Given the description of an element on the screen output the (x, y) to click on. 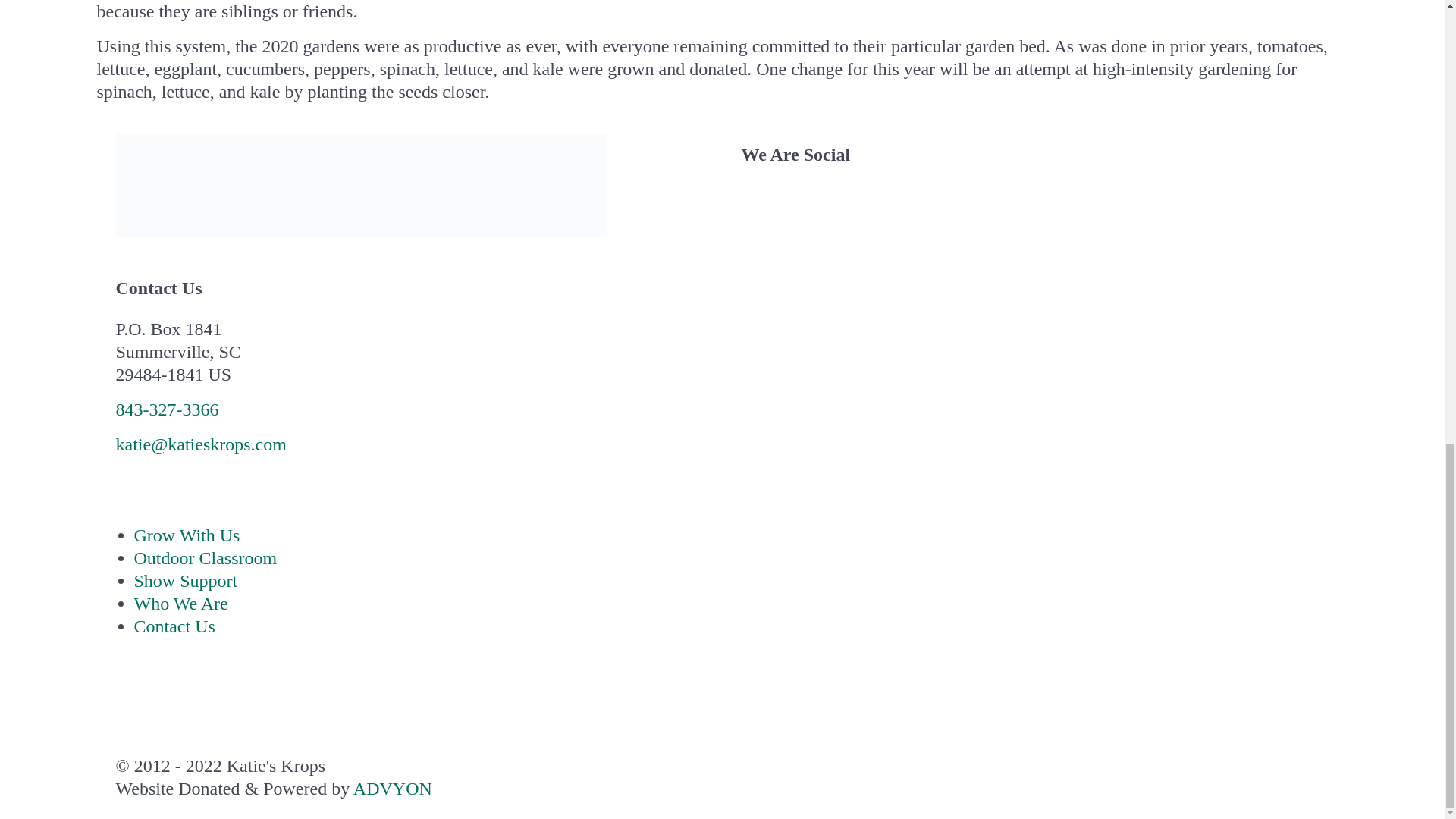
843-327-3366 (166, 409)
Back to top (126, 704)
Who We Are (180, 603)
Outdoor Classroom (204, 557)
Show Support (185, 580)
Grow With Us (186, 535)
